Given the description of an element on the screen output the (x, y) to click on. 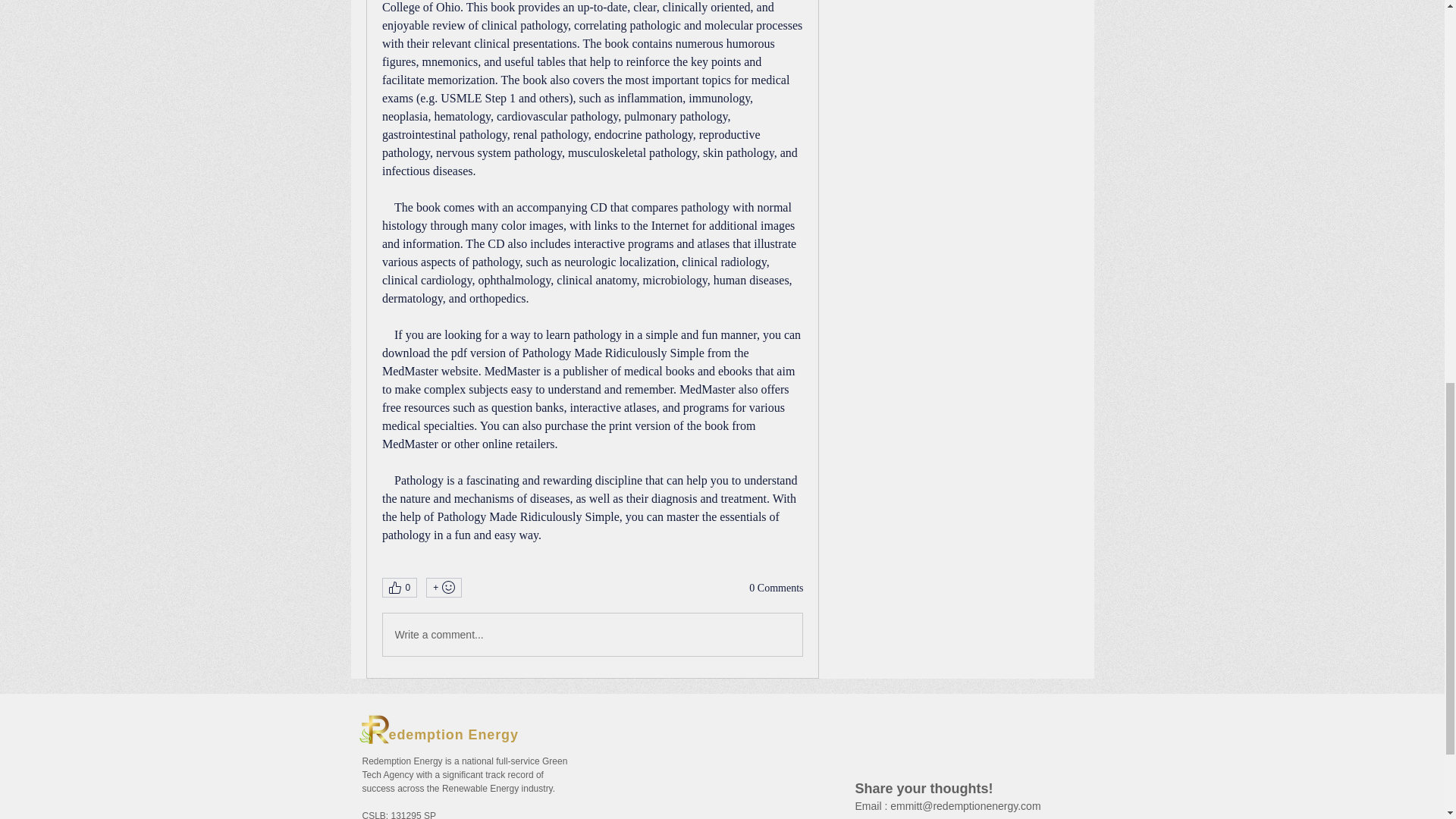
Write a comment... (591, 634)
edemption Energy (453, 734)
0 Comments (776, 588)
